Given the description of an element on the screen output the (x, y) to click on. 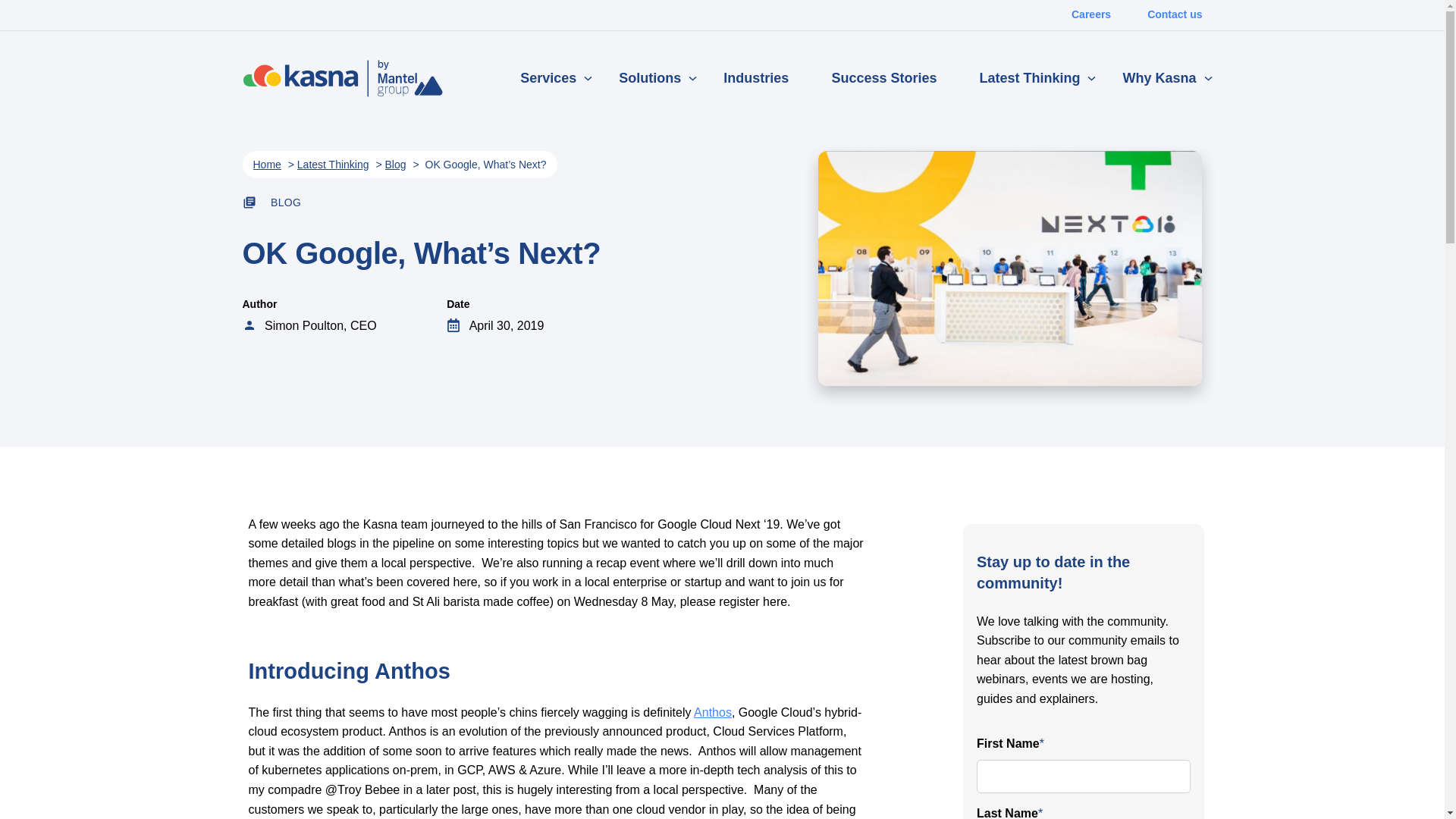
Home Element type: text (267, 164)
Solutions Element type: text (649, 78)
Anthos Element type: text (712, 712)
Why Kasna Element type: text (1159, 78)
Careers Element type: text (1090, 15)
Success Stories Element type: text (883, 78)
Latest Thinking Element type: text (1029, 78)
Contact us Element type: text (1174, 15)
Services Element type: text (548, 78)
Industries Element type: text (755, 78)
Latest Thinking Element type: text (333, 164)
Blog Element type: text (395, 164)
